Given the description of an element on the screen output the (x, y) to click on. 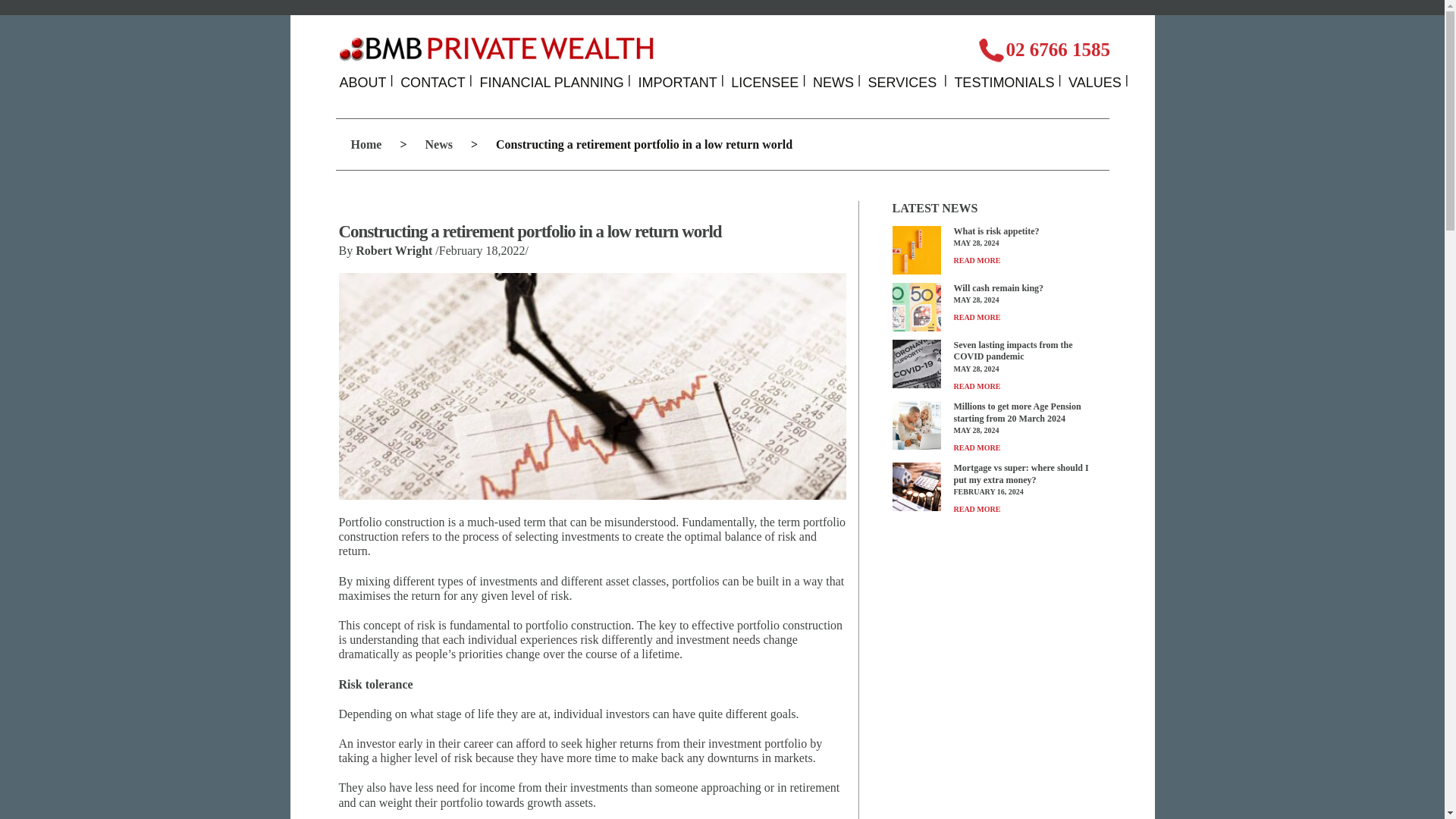
TESTIMONIALS (1003, 82)
READ MORE (977, 447)
READ MORE (977, 316)
READ MORE (977, 260)
CONTACT (432, 82)
VALUES (1094, 82)
READ MORE (977, 386)
Home (365, 144)
IMPORTANT (676, 82)
ABOUT (363, 82)
READ MORE (977, 509)
FINANCIAL PLANNING (551, 82)
NEWS (832, 82)
